Given the description of an element on the screen output the (x, y) to click on. 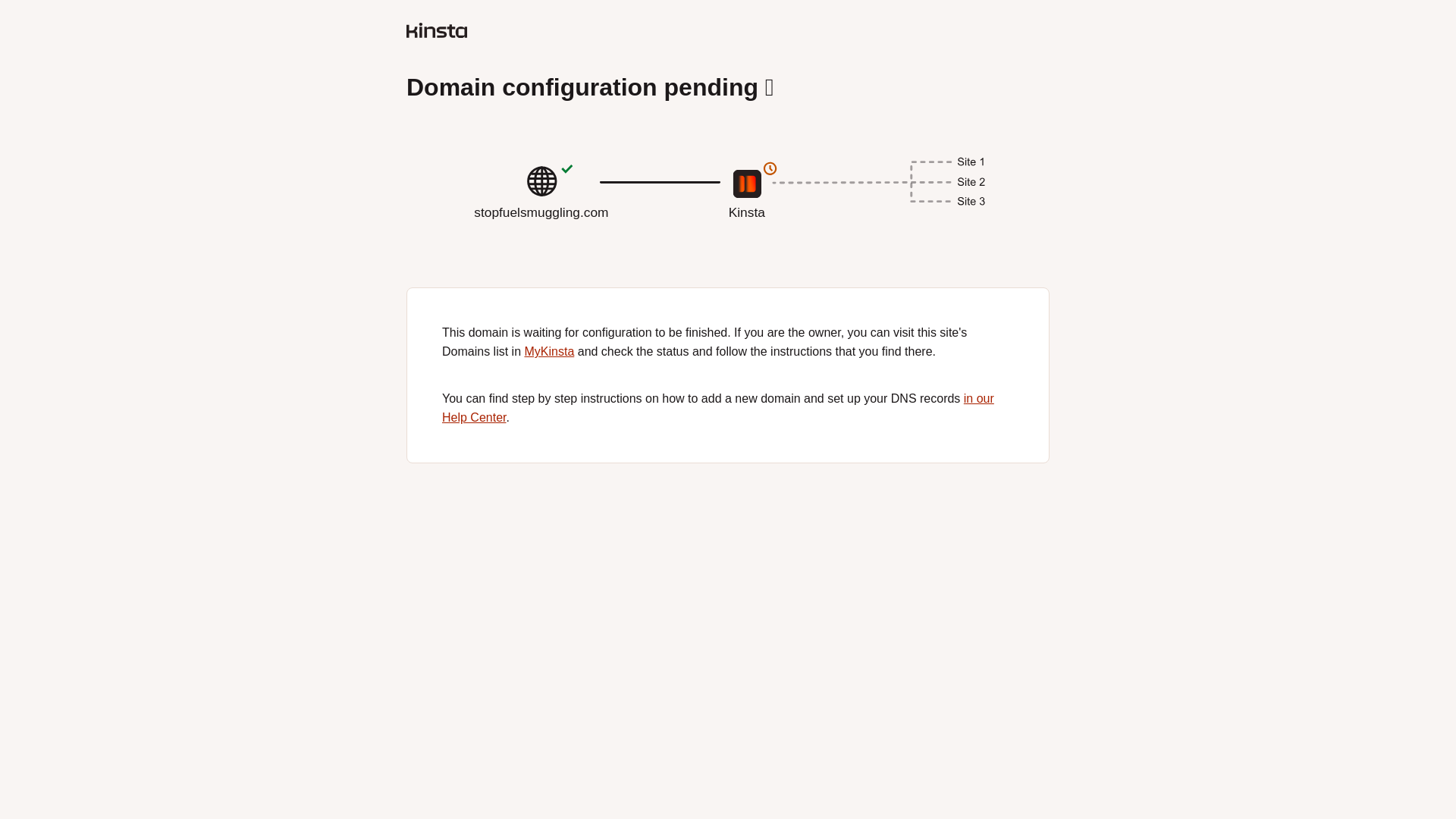
MyKinsta (548, 350)
in our Help Center (718, 408)
